Given the description of an element on the screen output the (x, y) to click on. 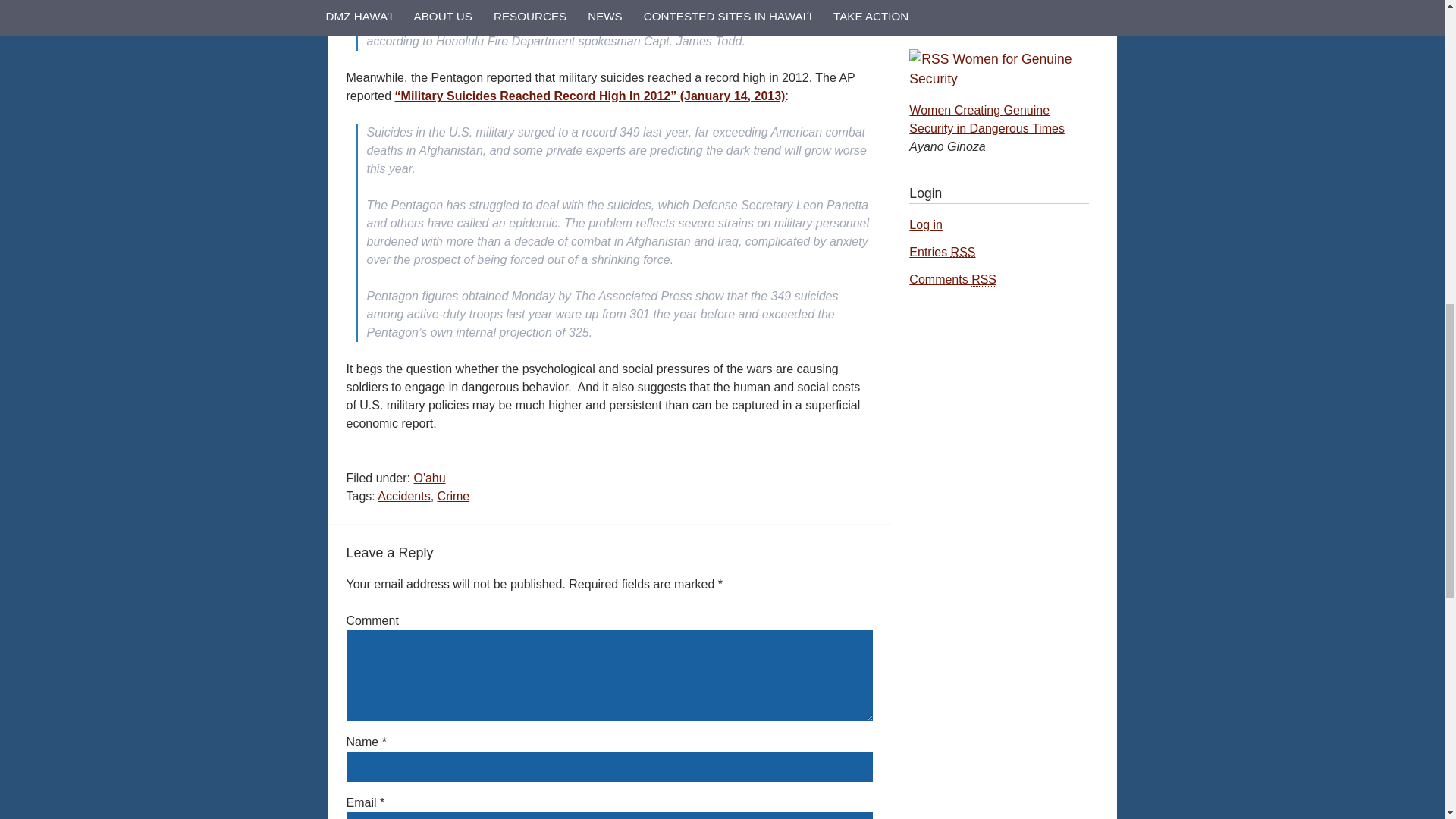
Crime (454, 495)
Accidents (403, 495)
O'ahu (429, 477)
Really Simple Syndication (983, 279)
Really Simple Syndication (962, 252)
